Given the description of an element on the screen output the (x, y) to click on. 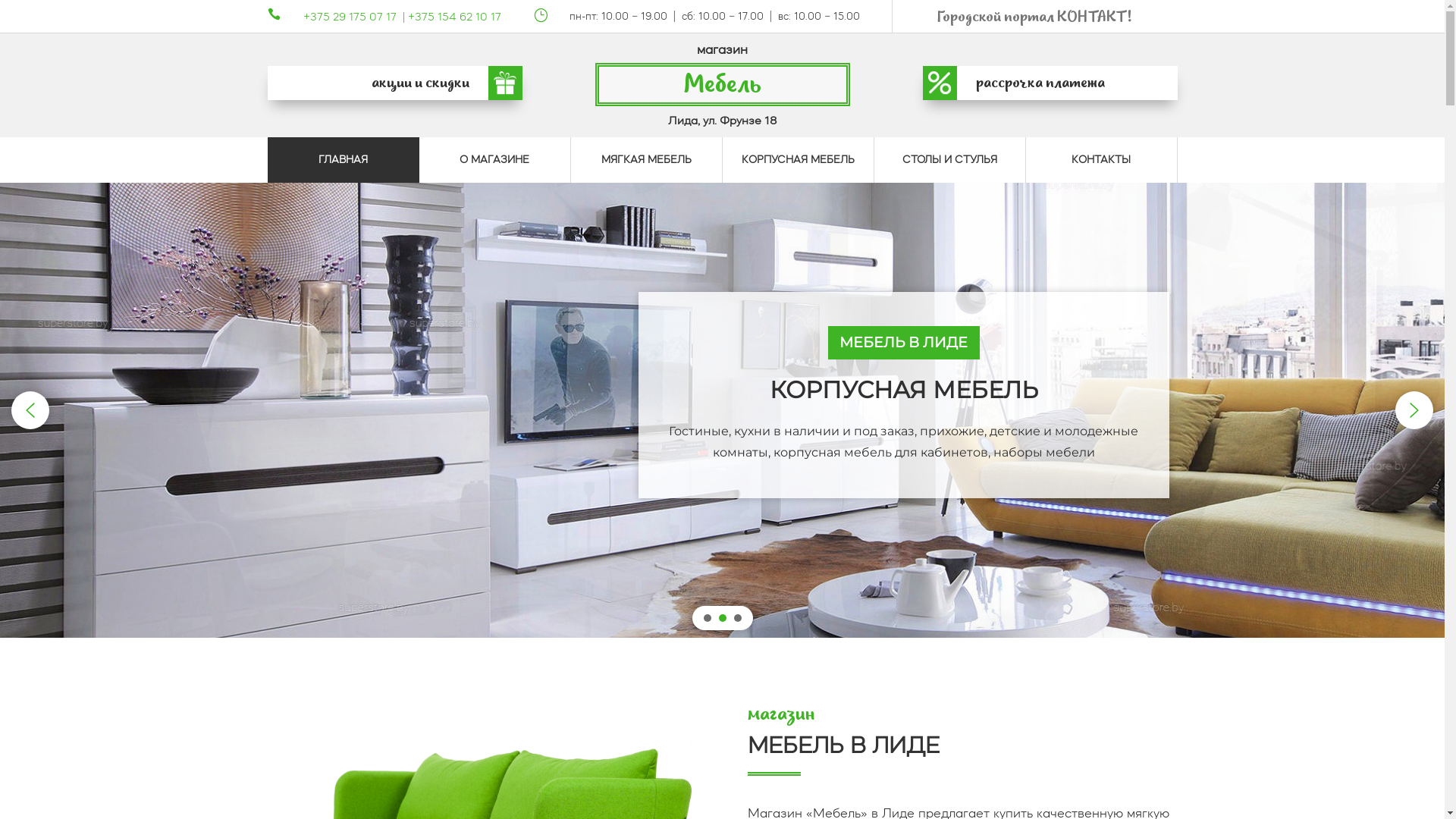
+375 29 175 07 17 Element type: text (349, 15)
+375 154 62 10 17 Element type: text (454, 15)
